Given the description of an element on the screen output the (x, y) to click on. 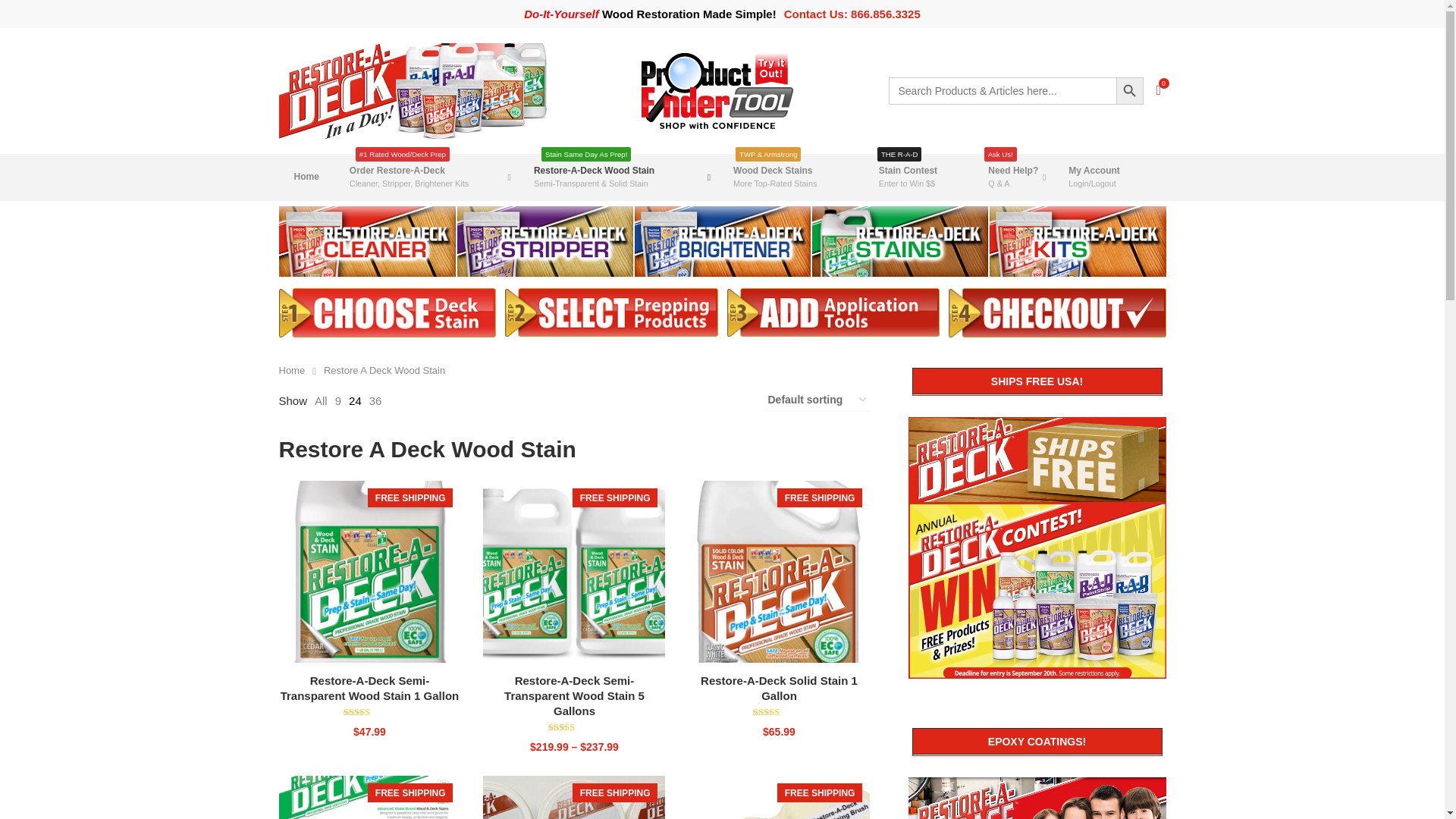
Show 4 columns (449, 400)
Home (306, 176)
Show 3 columns (426, 400)
Contact Us: 866.856.3325 (852, 13)
SEARCH BUTTON (1129, 90)
View your shopping cart (1158, 90)
0 (1158, 90)
Show 2 columns (404, 400)
